Given the description of an element on the screen output the (x, y) to click on. 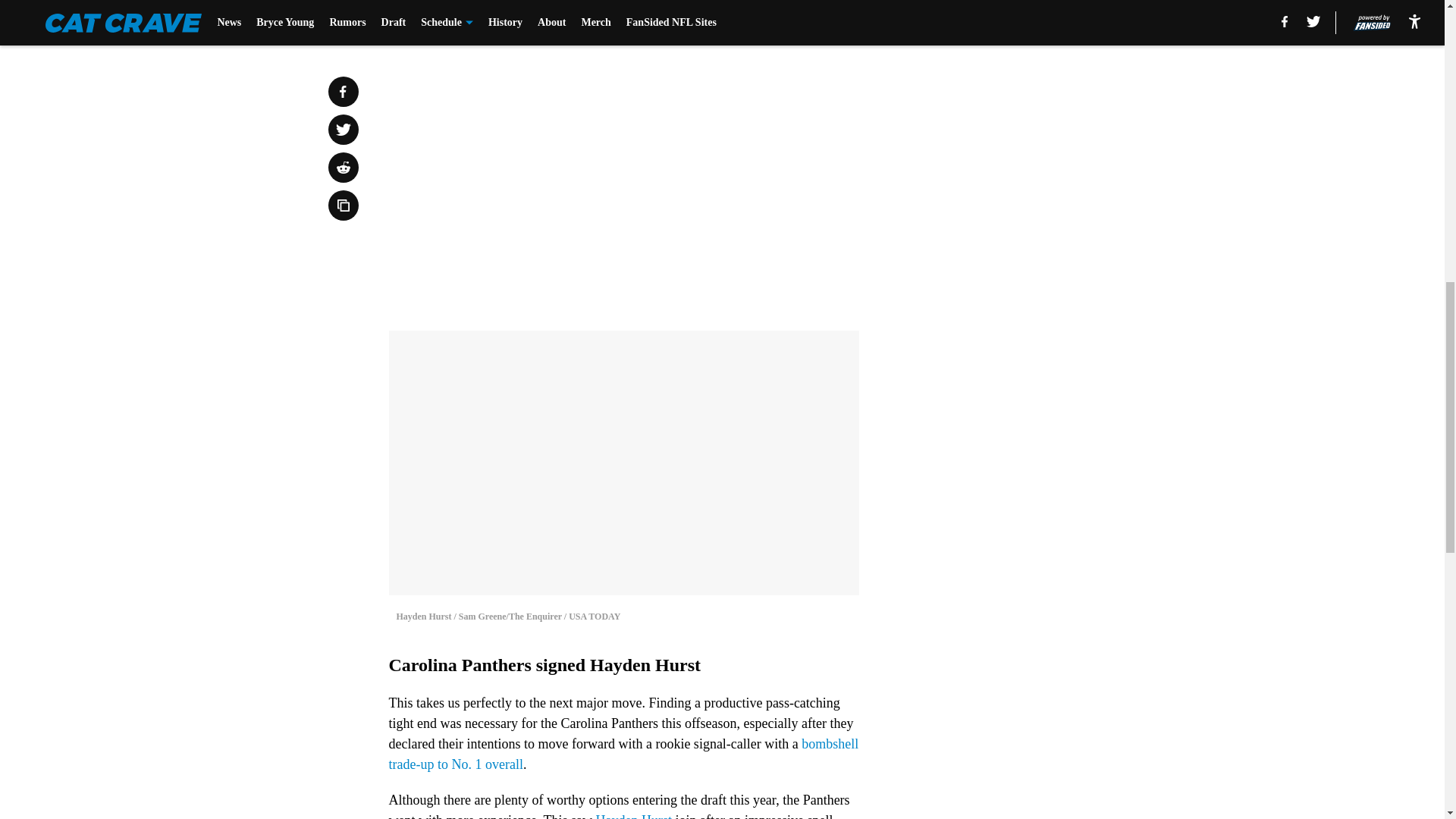
bombshell trade-up to No. 1 overall (623, 754)
Prev (433, 20)
Next (813, 20)
Hayden Hurst (633, 816)
